Given the description of an element on the screen output the (x, y) to click on. 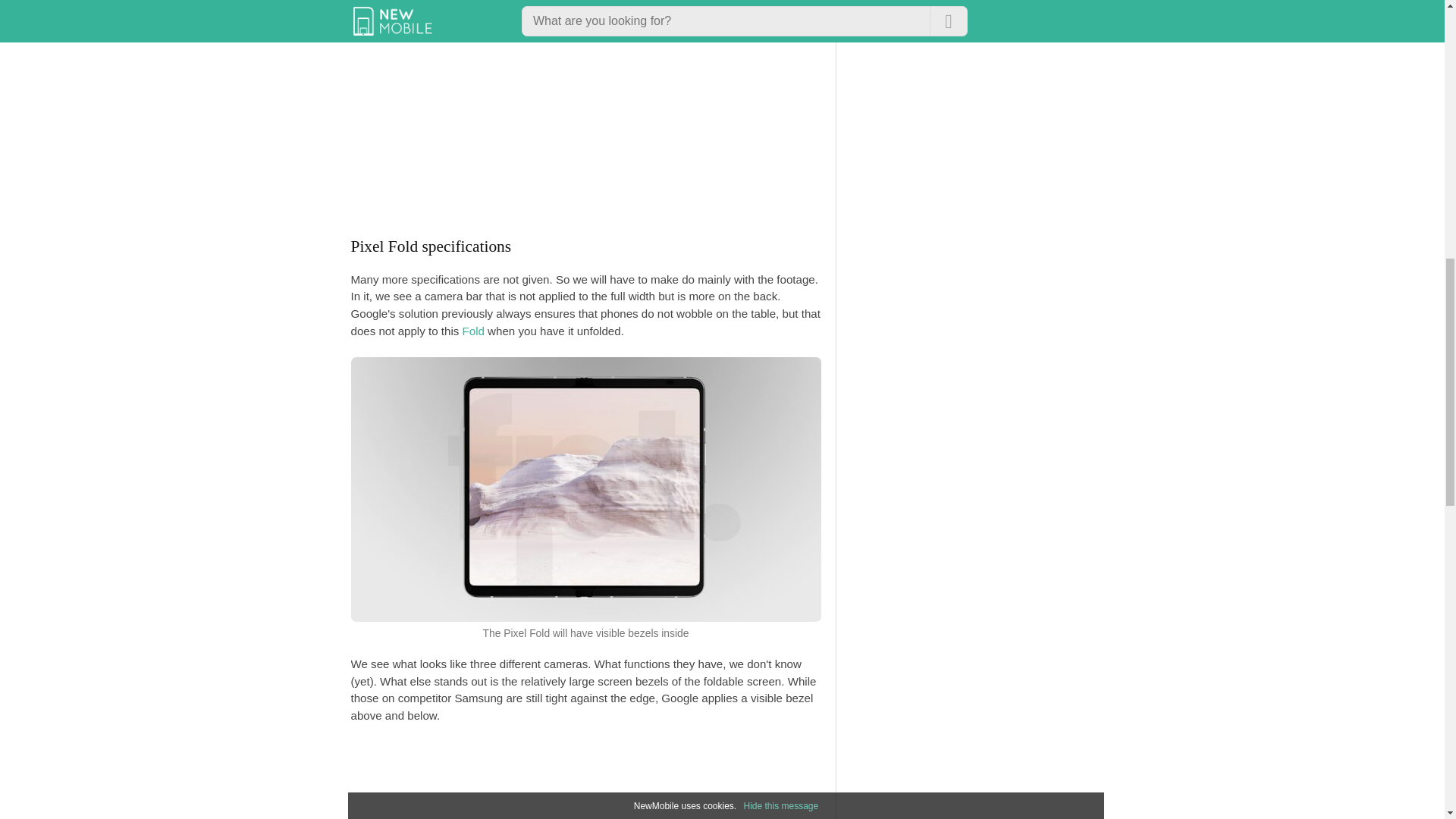
Fold (473, 330)
Advertisement (805, 780)
